Given the description of an element on the screen output the (x, y) to click on. 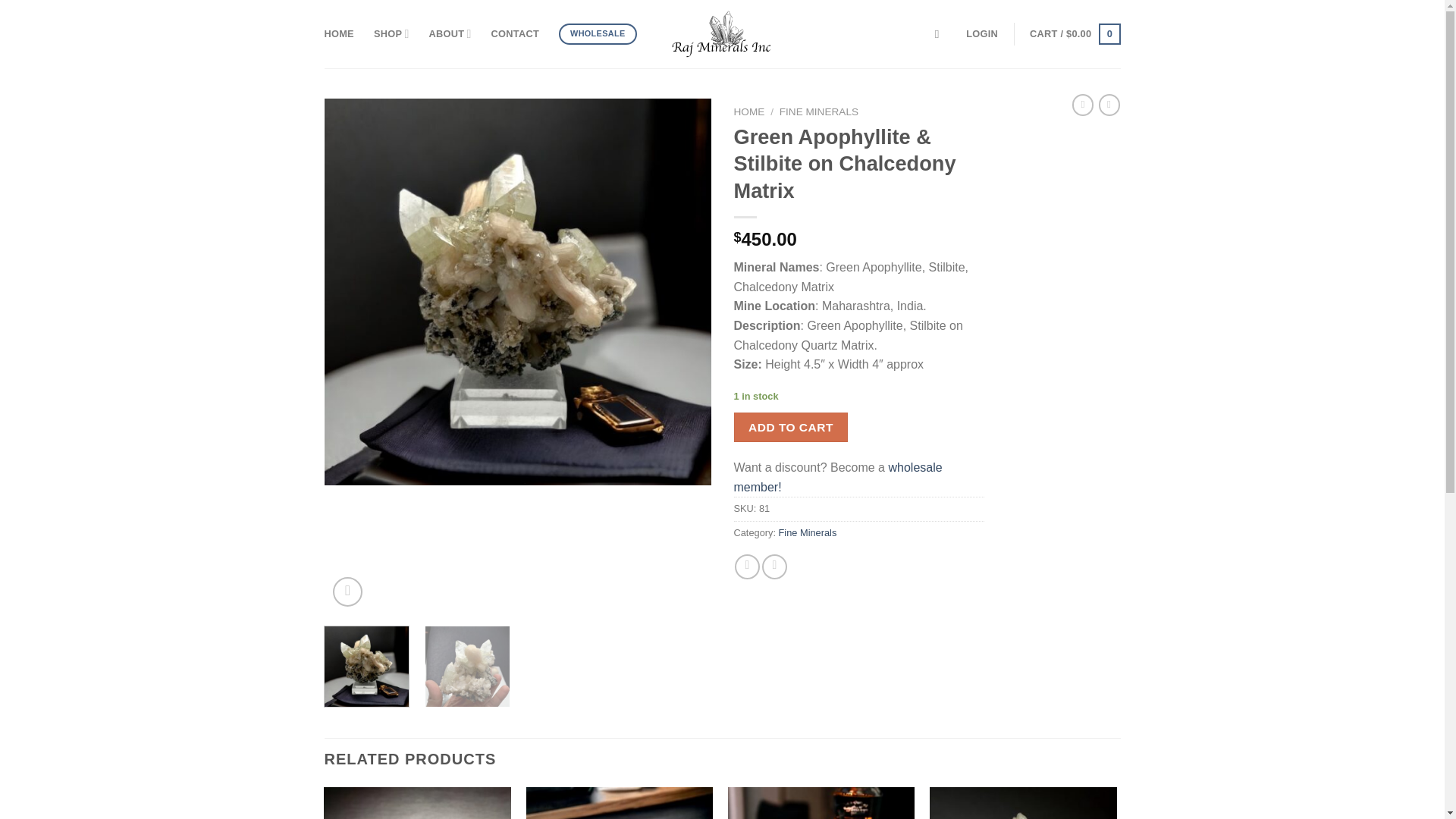
LOGIN (981, 33)
wholesale member! (837, 477)
Share on Facebook (747, 566)
CONTACT (515, 33)
SHOP (391, 33)
Zoom (347, 591)
FINE MINERALS (818, 111)
ADD TO CART (790, 427)
Email to a Friend (774, 566)
HOME (749, 111)
